Given the description of an element on the screen output the (x, y) to click on. 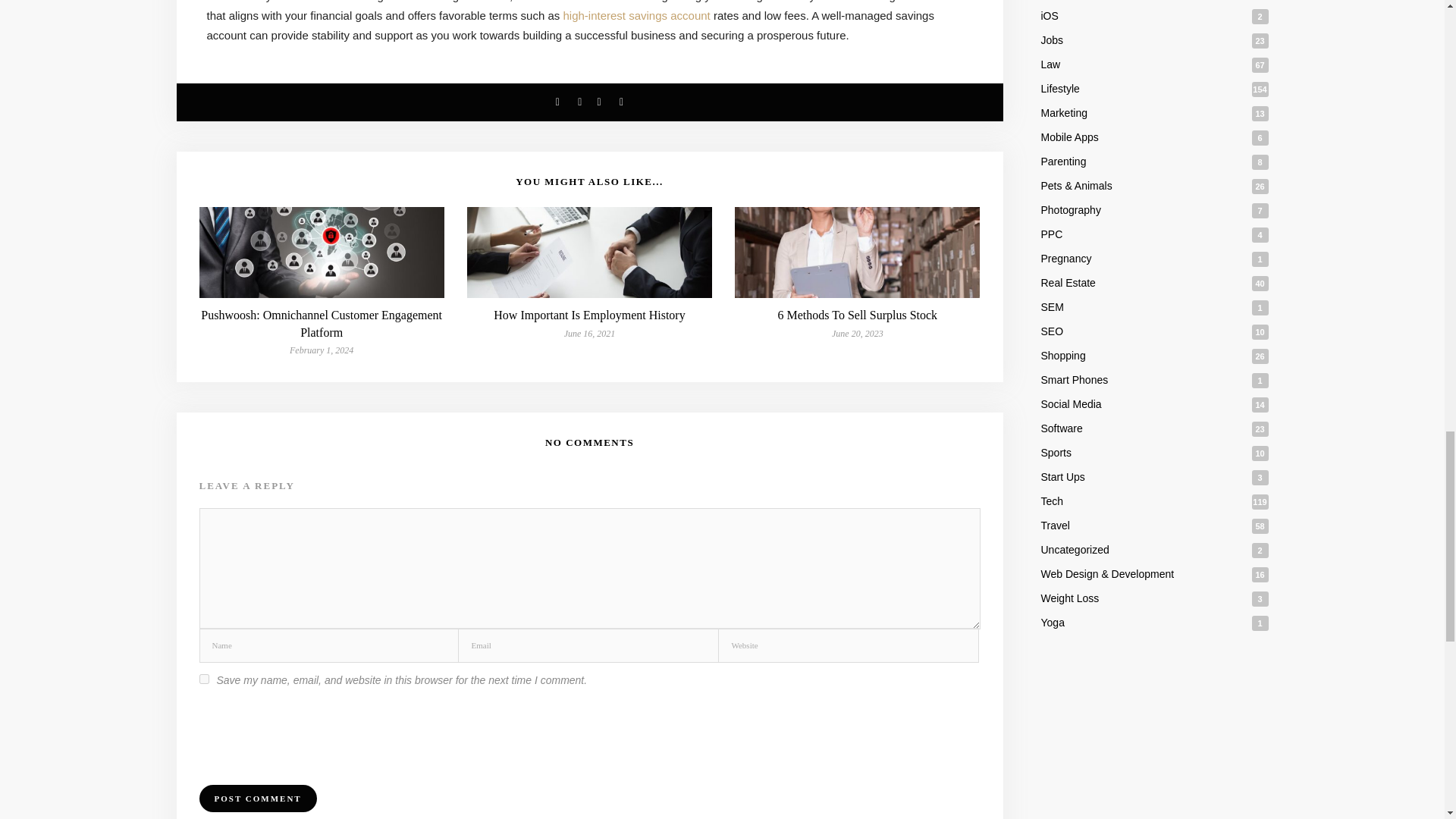
Post Comment (256, 798)
yes (203, 678)
reCAPTCHA (313, 731)
